Given the description of an element on the screen output the (x, y) to click on. 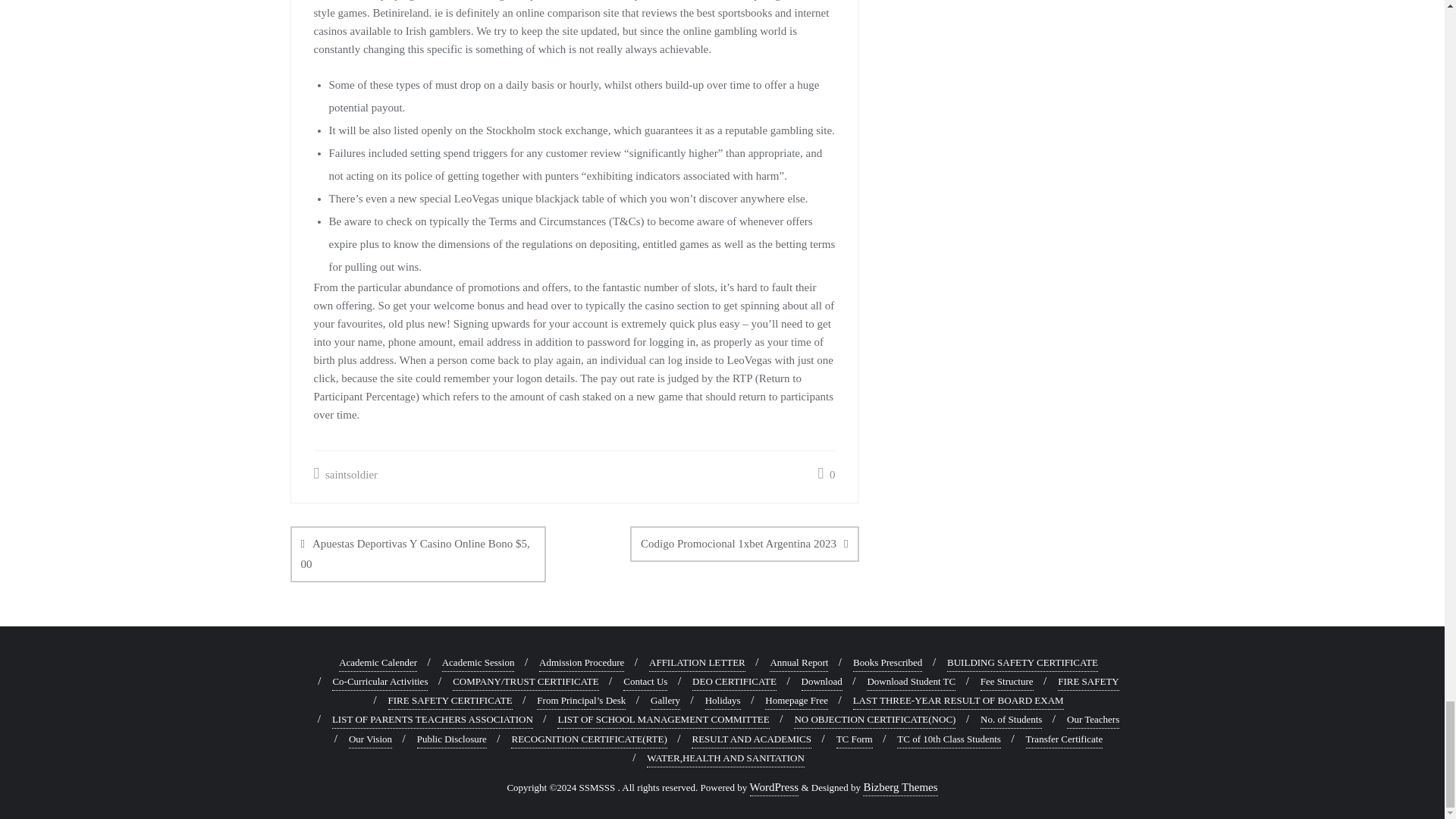
saintsoldier (346, 475)
Codigo Promocional 1xbet Argentina 2023 (744, 543)
